Given the description of an element on the screen output the (x, y) to click on. 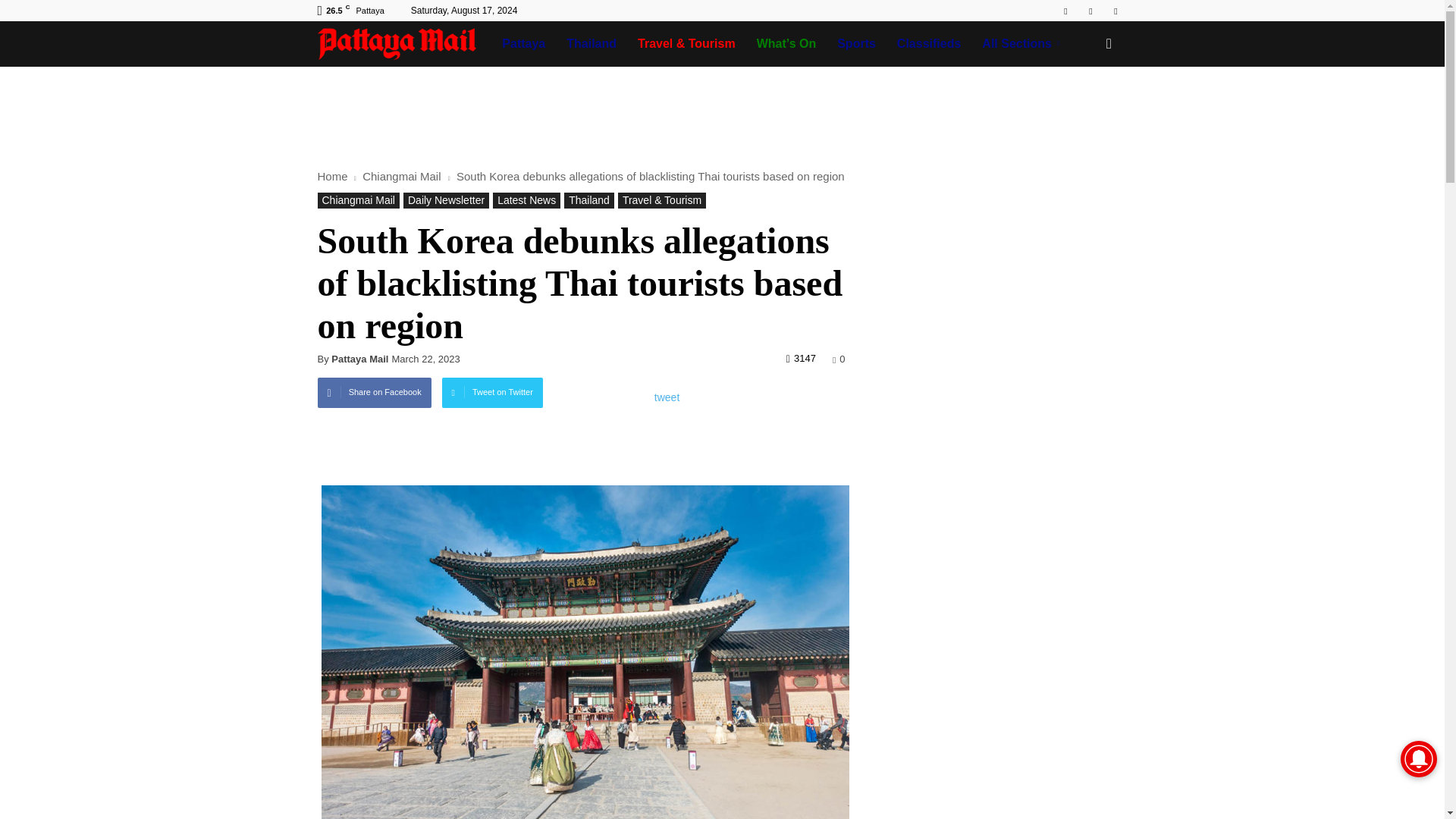
Sports (856, 43)
Pattaya (524, 43)
Thailand (591, 43)
View all posts in Chiangmai Mail (403, 175)
Linkedin (1090, 10)
Classifieds (928, 43)
Facebook (1065, 10)
All Sections (1023, 43)
Twitter (1114, 10)
Pattaya Mail (404, 44)
